Given the description of an element on the screen output the (x, y) to click on. 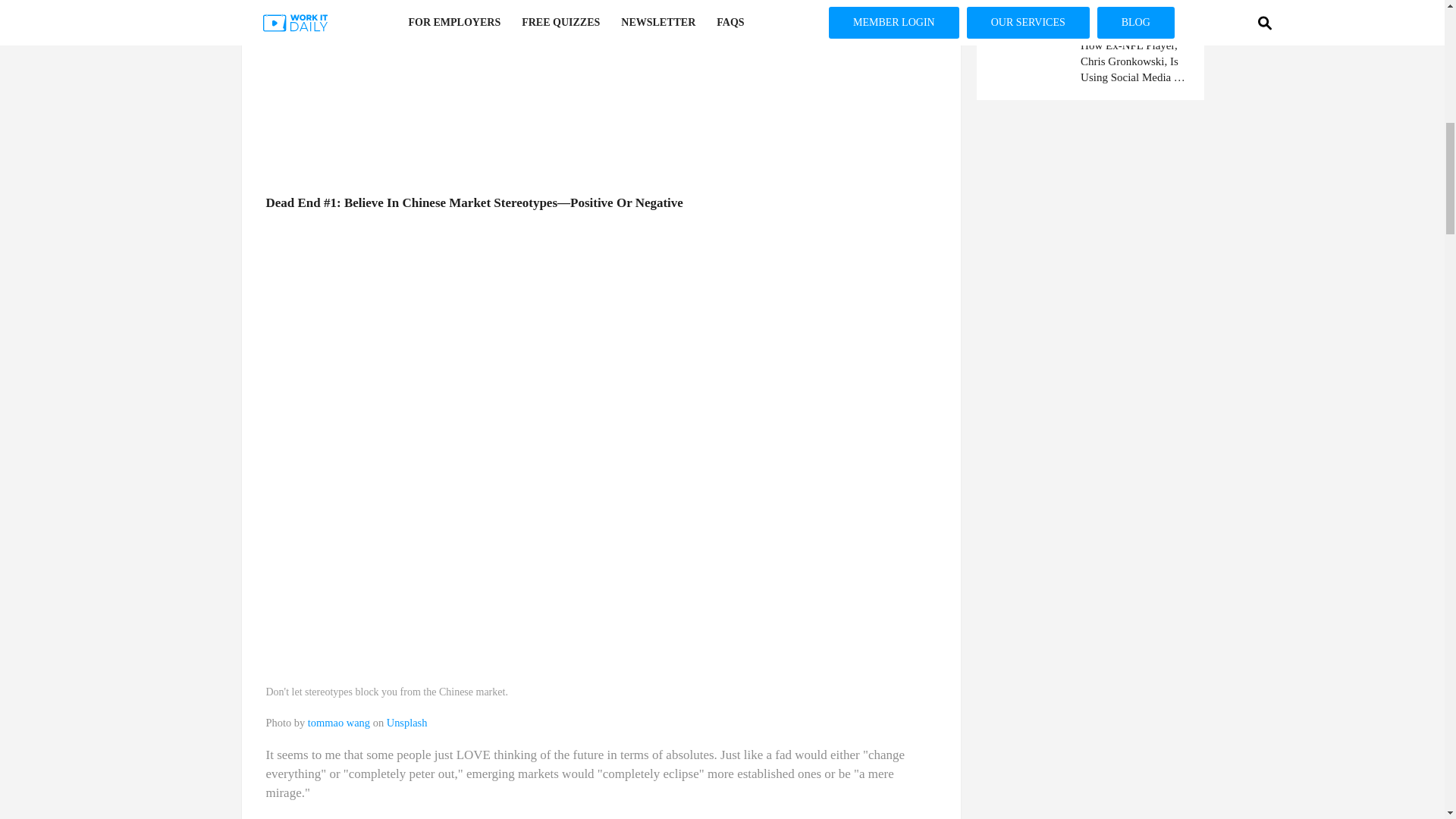
tommao wang (338, 722)
Unsplash (407, 722)
